Given the description of an element on the screen output the (x, y) to click on. 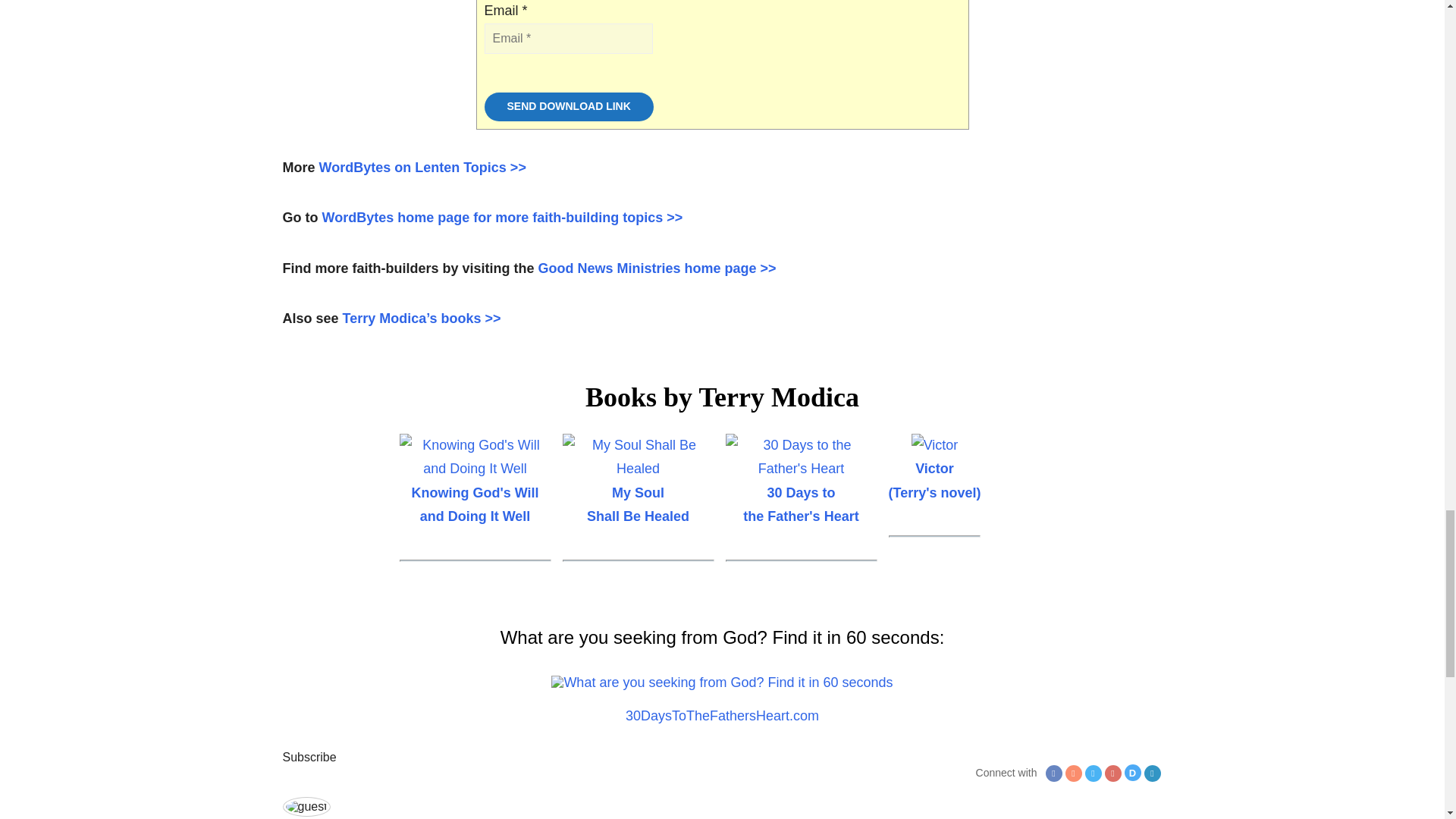
What are you seeking from God? Find it in 60 seconds (721, 682)
Send Download Link (567, 106)
